Given the description of an element on the screen output the (x, y) to click on. 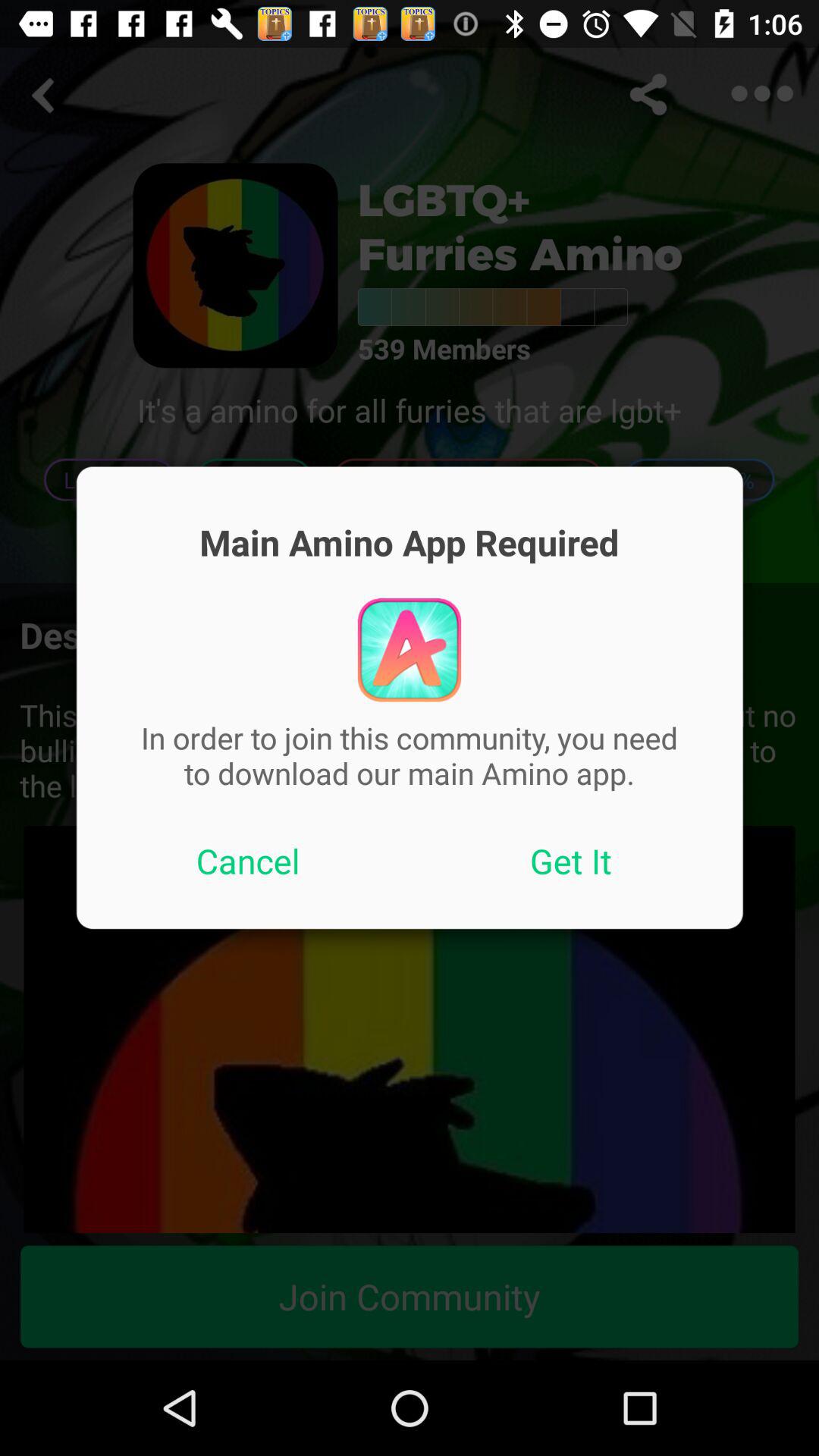
open the icon below in order to app (247, 860)
